Given the description of an element on the screen output the (x, y) to click on. 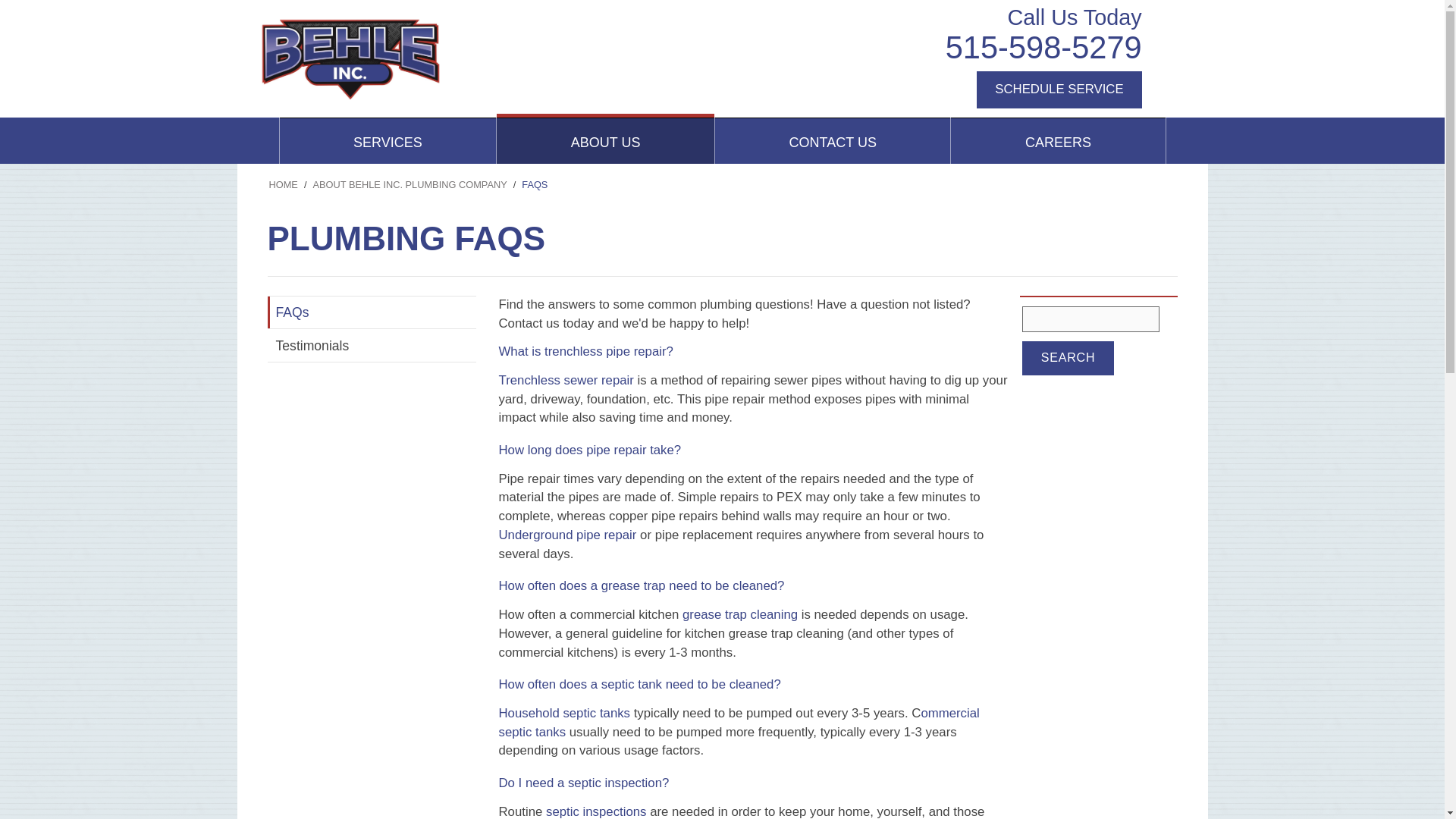
CONTACT US (832, 140)
SCHEDULE SERVICE (1058, 89)
CAREERS (1057, 140)
SERVICES (387, 140)
ABOUT US (605, 140)
